Given the description of an element on the screen output the (x, y) to click on. 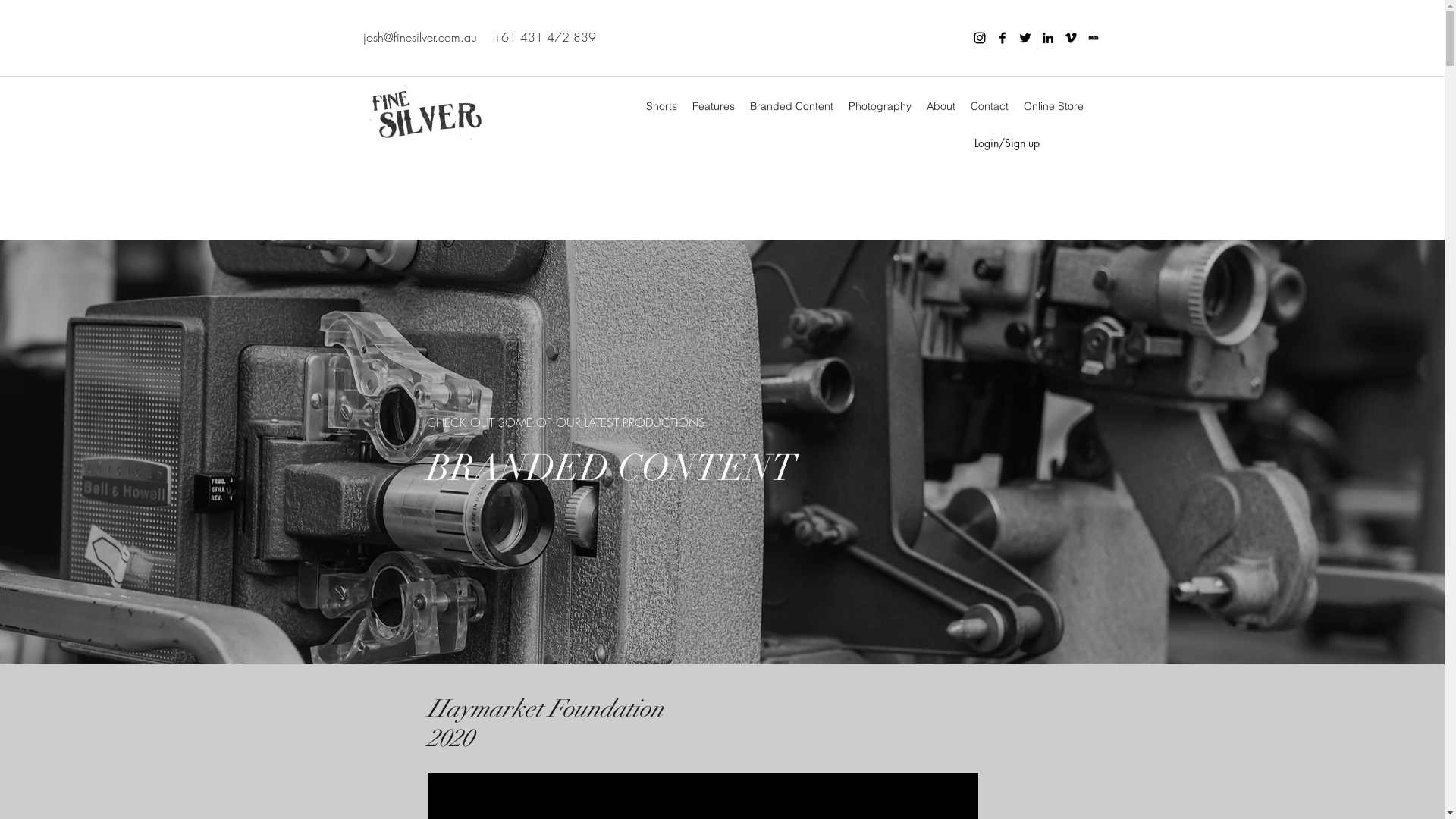
Contact Element type: text (989, 105)
Login/Sign up Element type: text (1006, 142)
Photography Element type: text (879, 105)
Online Store Element type: text (1053, 105)
Features Element type: text (712, 105)
Branded Content Element type: text (790, 105)
Shorts Element type: text (661, 105)
josh@finesilver.com.au Element type: text (419, 36)
About Element type: text (941, 105)
